Given the description of an element on the screen output the (x, y) to click on. 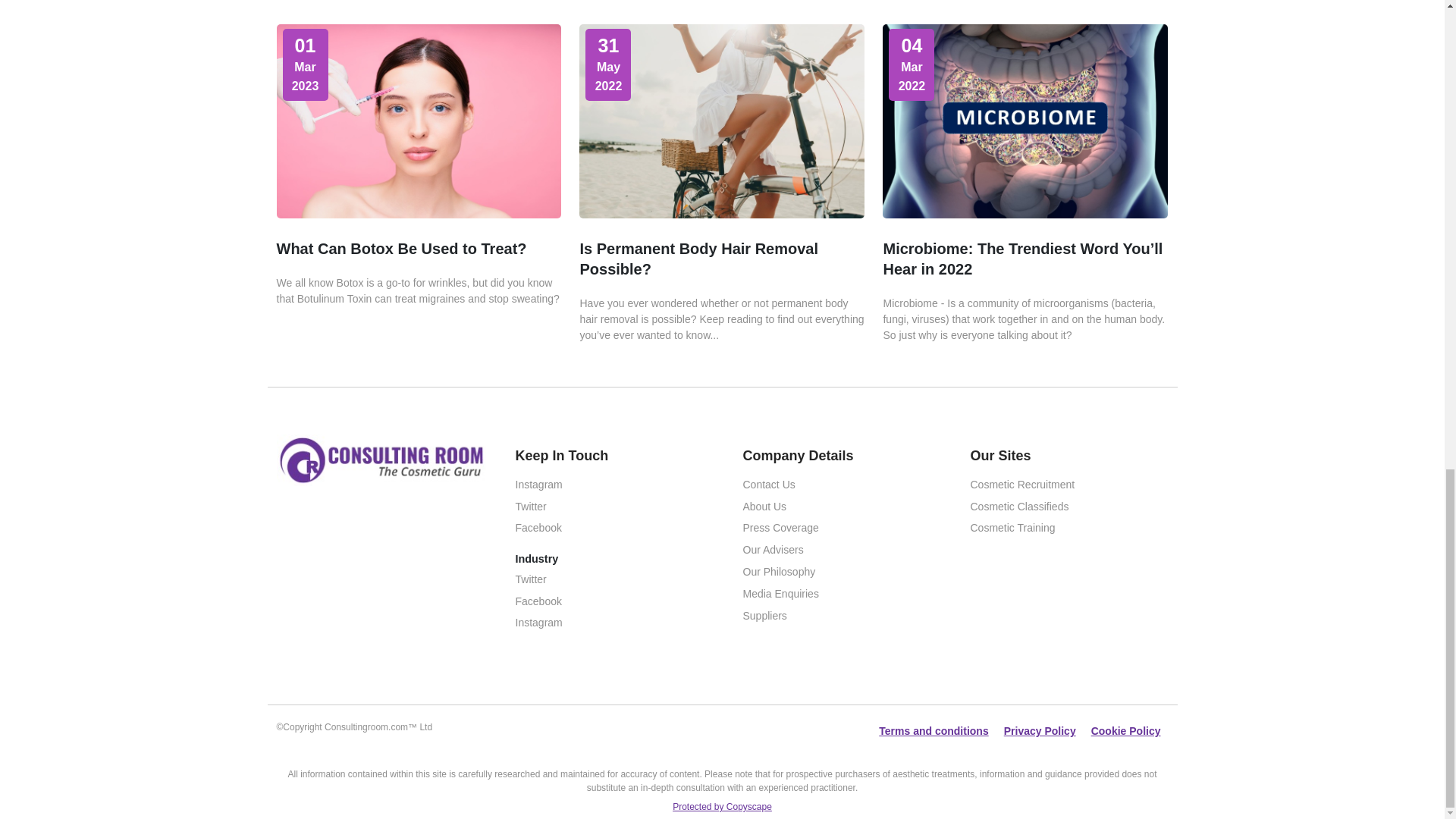
What Can Botox Be Used to Treat? (400, 249)
Is Permanent Body Hair Removal Possible? (698, 259)
